Given the description of an element on the screen output the (x, y) to click on. 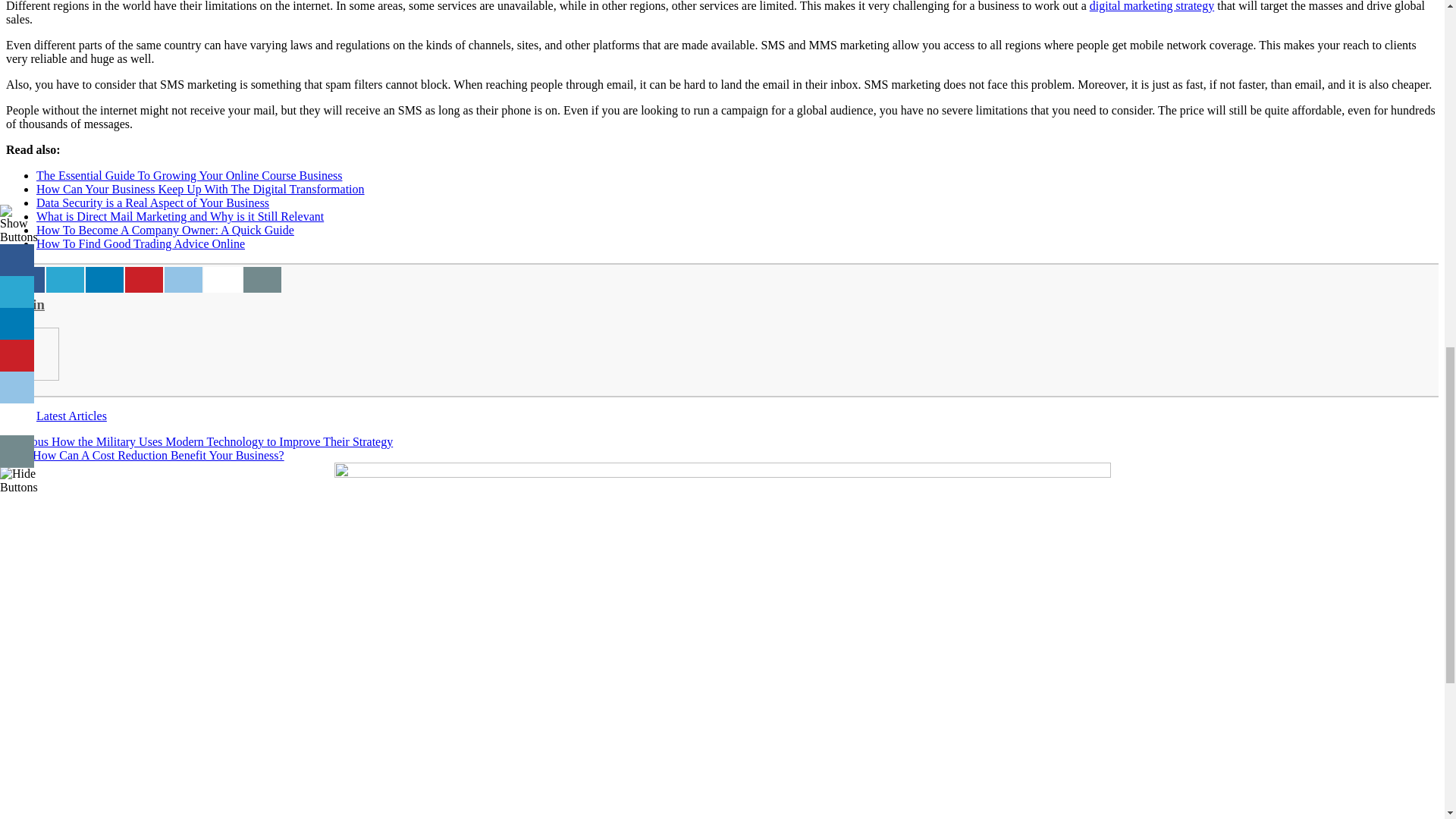
Share On Reddit (183, 279)
Share On Facebook (26, 279)
How To Find Good Trading Advice Online (140, 243)
Share On Twitter (65, 279)
admin (25, 304)
Contact us (262, 279)
All posts by admin (25, 304)
Latest Articles (71, 415)
digital marketing strategy (1151, 6)
Share On Linkedin (104, 279)
Share On Stumbleupon (222, 279)
Data Security is a Real Aspect of Your Business (152, 202)
The Essential Guide To Growing Your Online Course Business (189, 174)
